Given the description of an element on the screen output the (x, y) to click on. 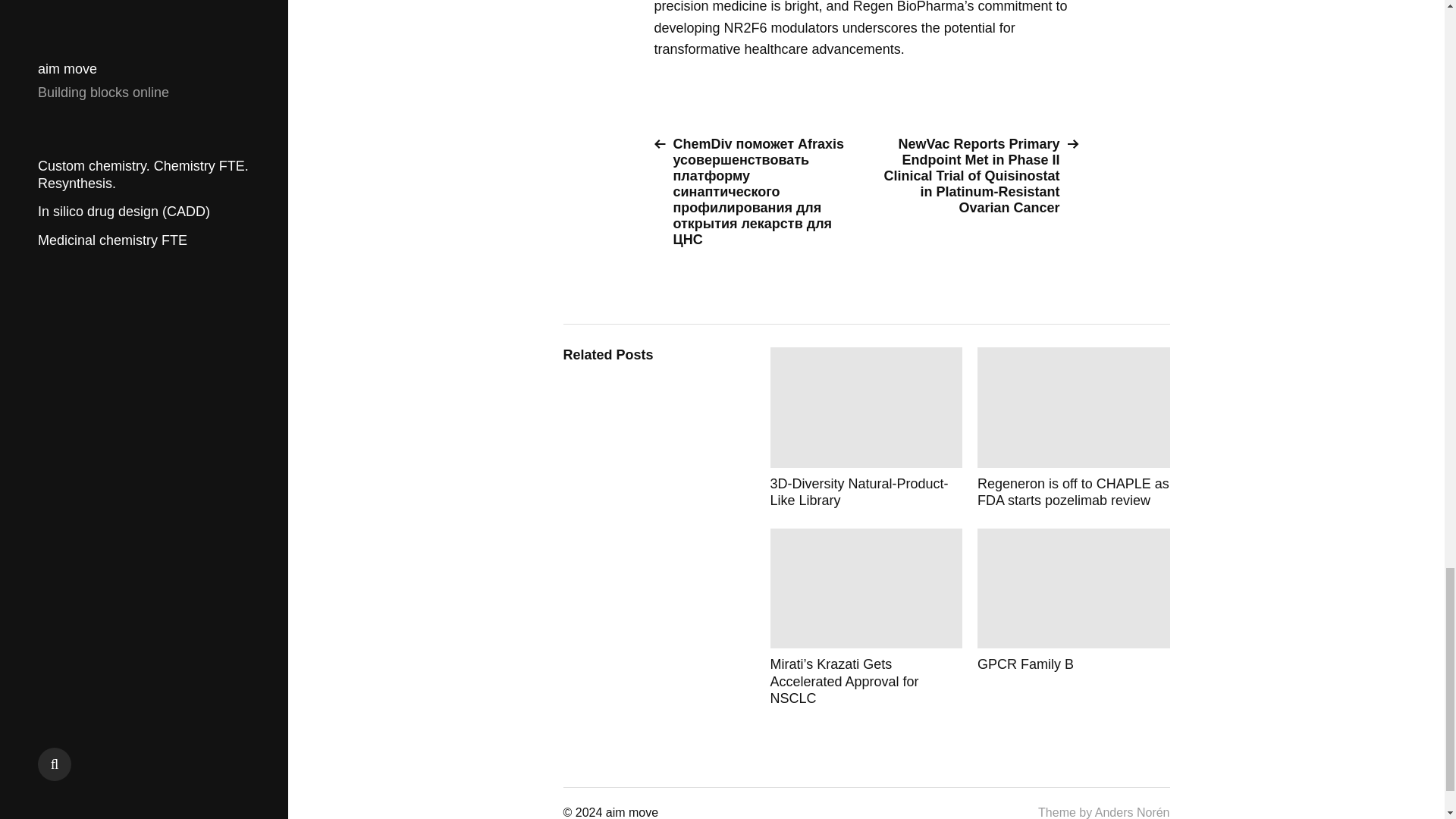
3D-Diversity Natural-Product-Like Library (866, 427)
Regeneron is off to CHAPLE as FDA starts pozelimab review (1073, 427)
GPCR Family B (1073, 617)
